Given the description of an element on the screen output the (x, y) to click on. 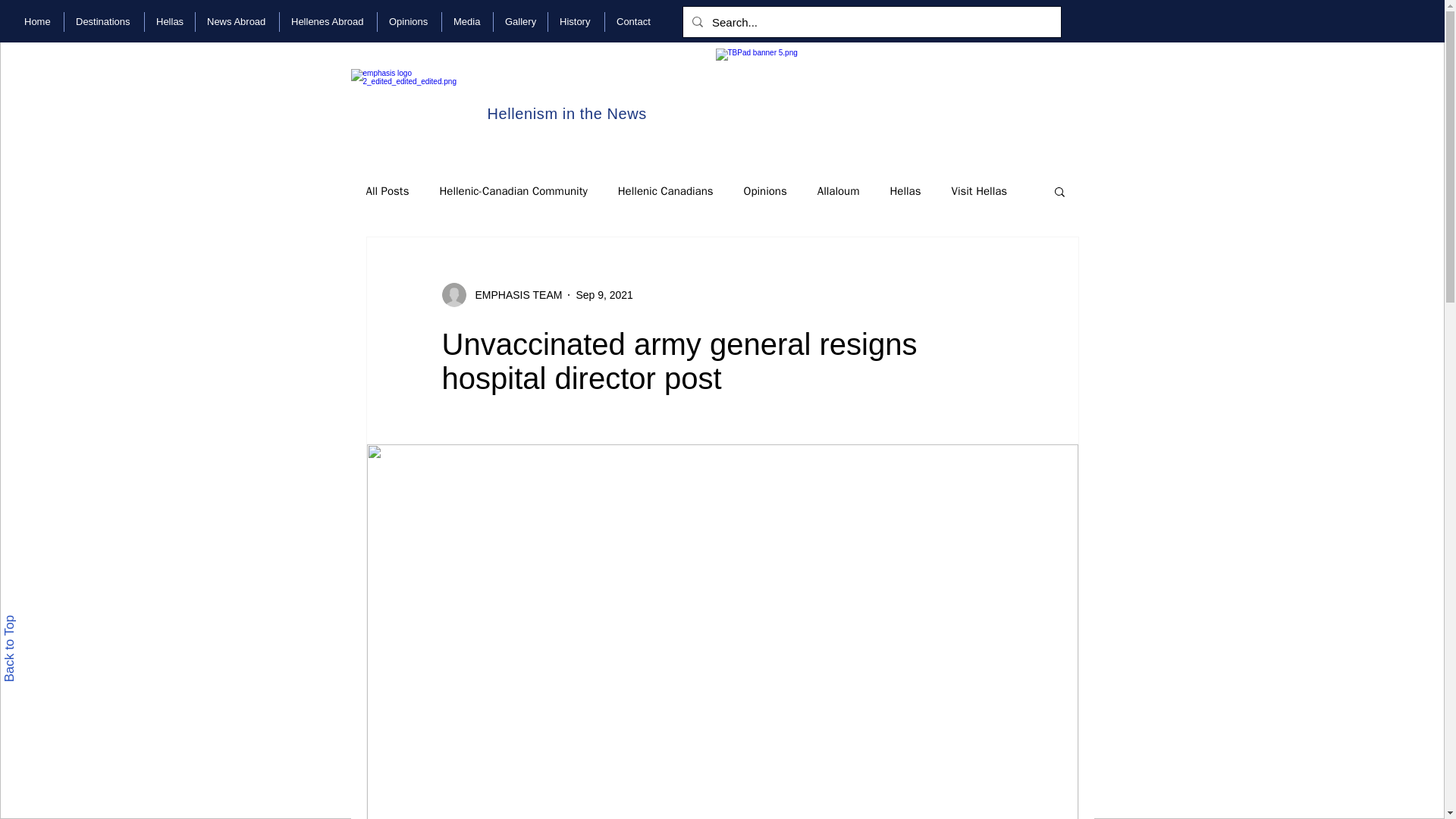
EMPHASIS TEAM (513, 294)
News Abroad (237, 21)
Opinions (409, 21)
History (576, 21)
Home (38, 21)
TopBiz Press.jpg (899, 95)
Gallery (520, 21)
Hellenes Abroad (328, 21)
Media (467, 21)
Destinations (104, 21)
Contact (634, 21)
All Posts (387, 190)
Hellas (169, 21)
Hellenic-Canadian Community (512, 190)
Sep 9, 2021 (604, 294)
